Given the description of an element on the screen output the (x, y) to click on. 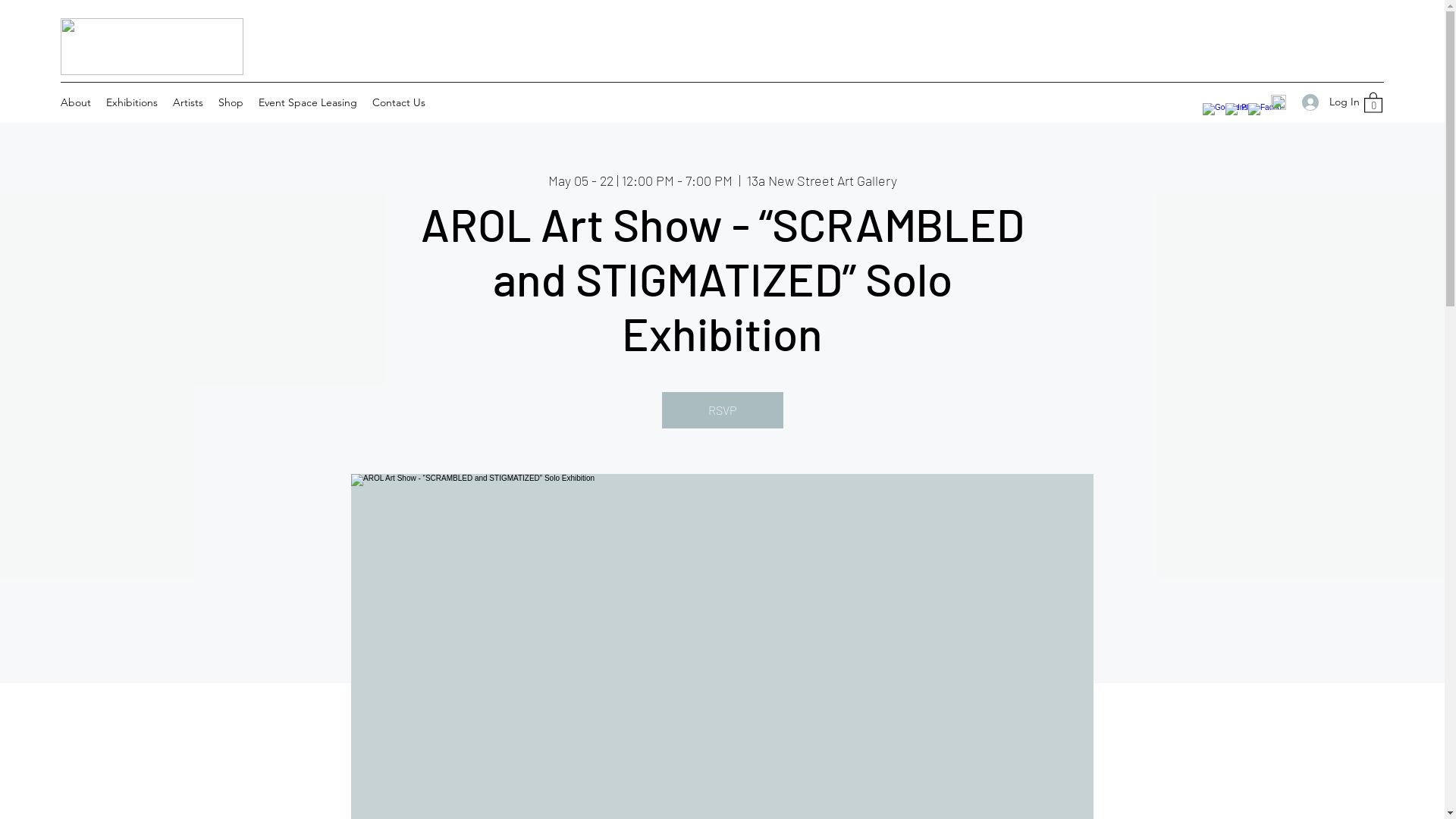
RSVP Element type: text (721, 410)
Contact Us Element type: text (398, 102)
About Element type: text (75, 102)
Event Space Leasing Element type: text (307, 102)
Log In Element type: text (1325, 101)
0 Element type: text (1373, 101)
Shop Element type: text (230, 102)
